Given the description of an element on the screen output the (x, y) to click on. 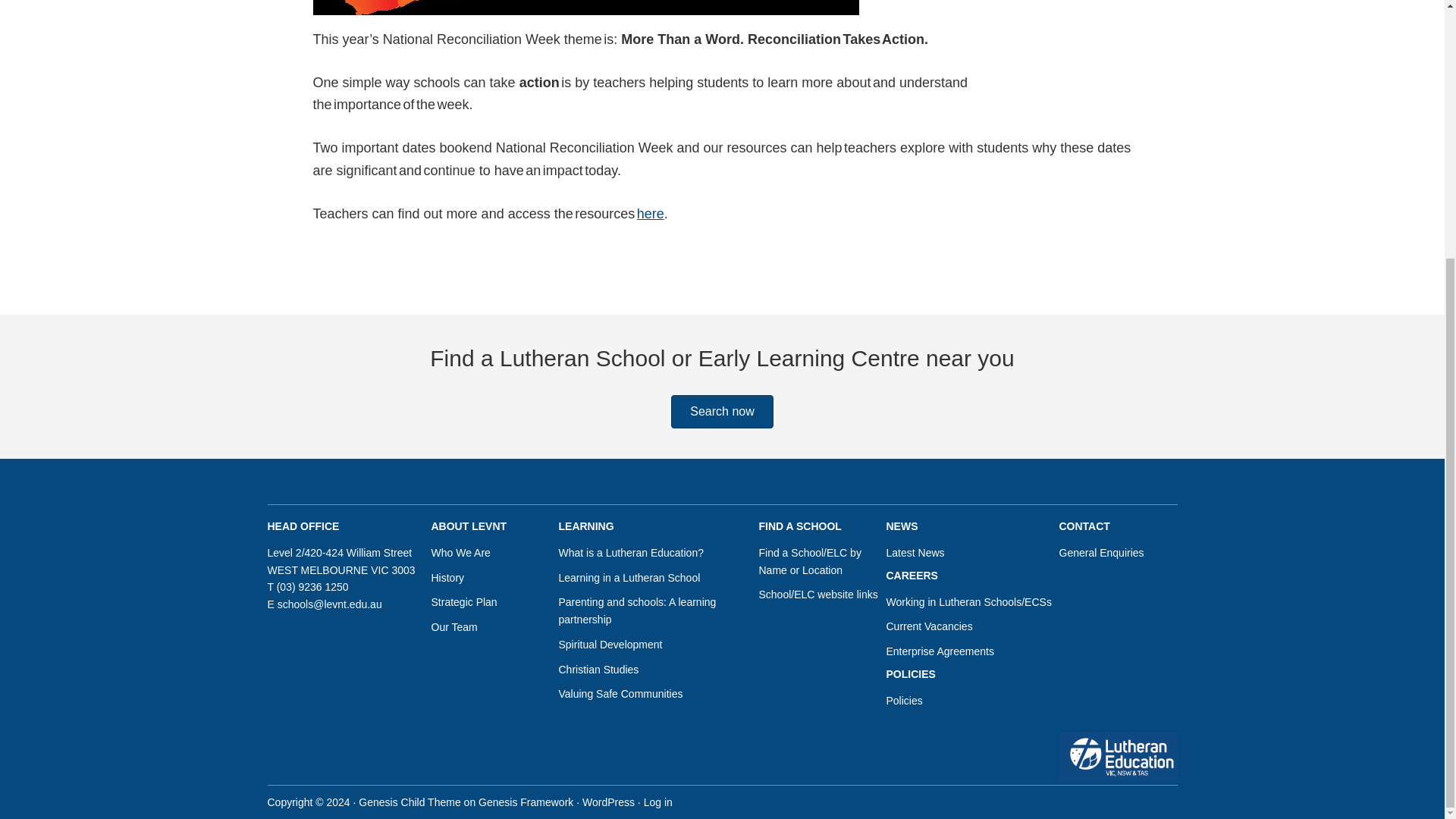
Strategic Plan (463, 602)
here (650, 213)
Our Team (453, 626)
Search now (722, 411)
History (447, 577)
Who We Are (459, 552)
